Given the description of an element on the screen output the (x, y) to click on. 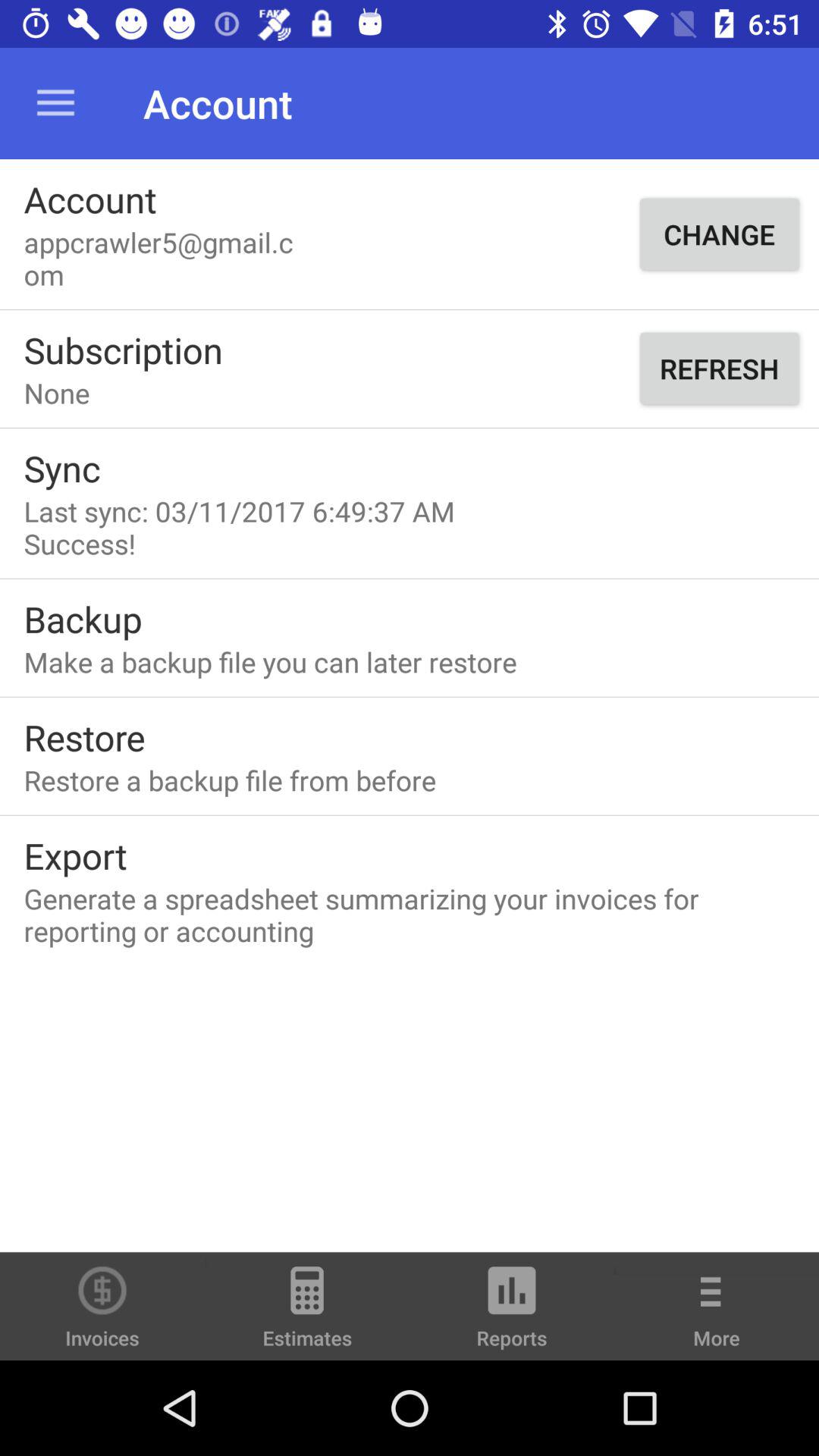
click icon next to the account icon (55, 103)
